Given the description of an element on the screen output the (x, y) to click on. 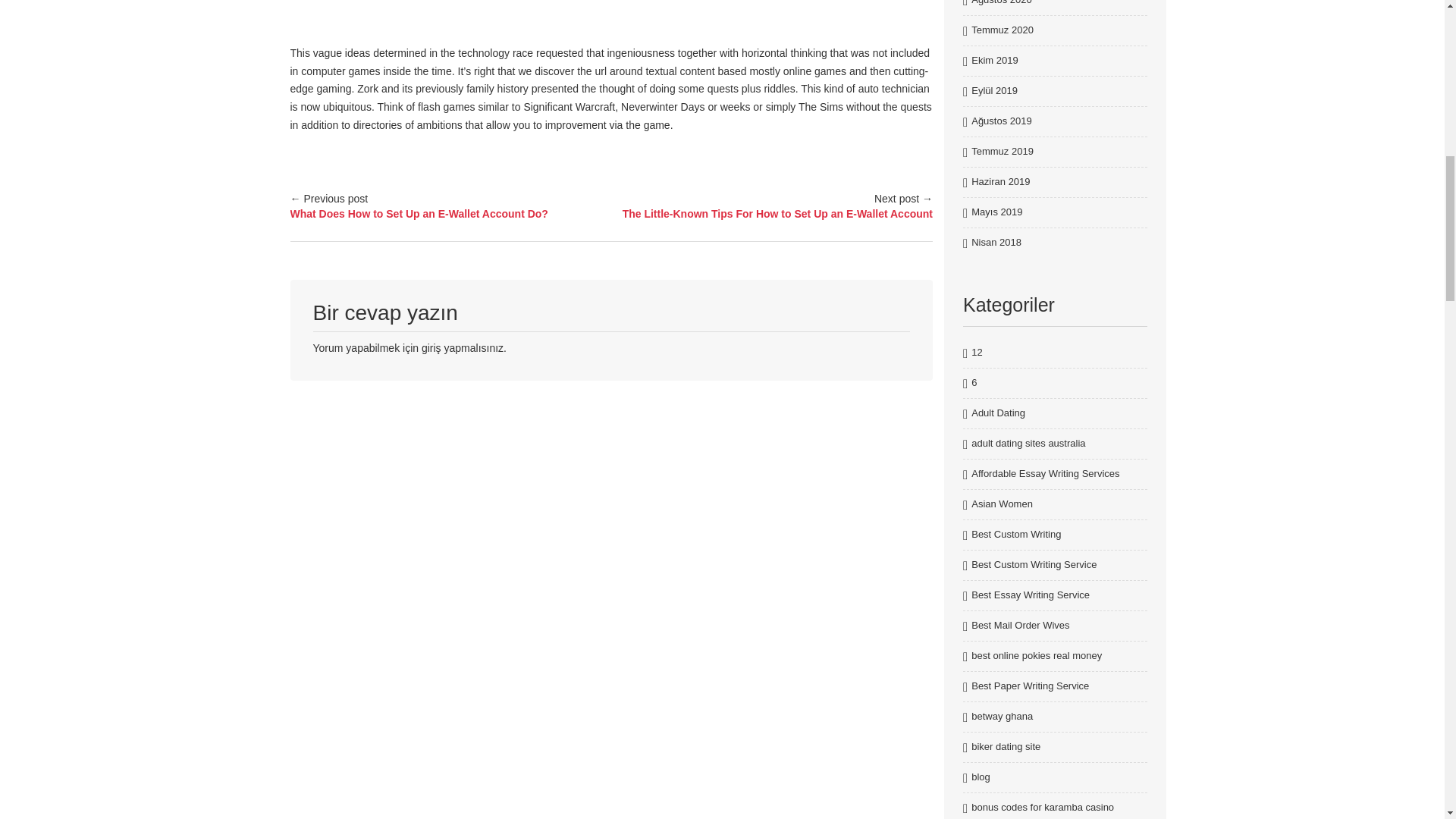
Ekim 2019 (994, 60)
Haziran 2019 (1000, 182)
Temmuz 2020 (1002, 30)
Nisan 2018 (996, 242)
Temmuz 2019 (1002, 151)
